Given the description of an element on the screen output the (x, y) to click on. 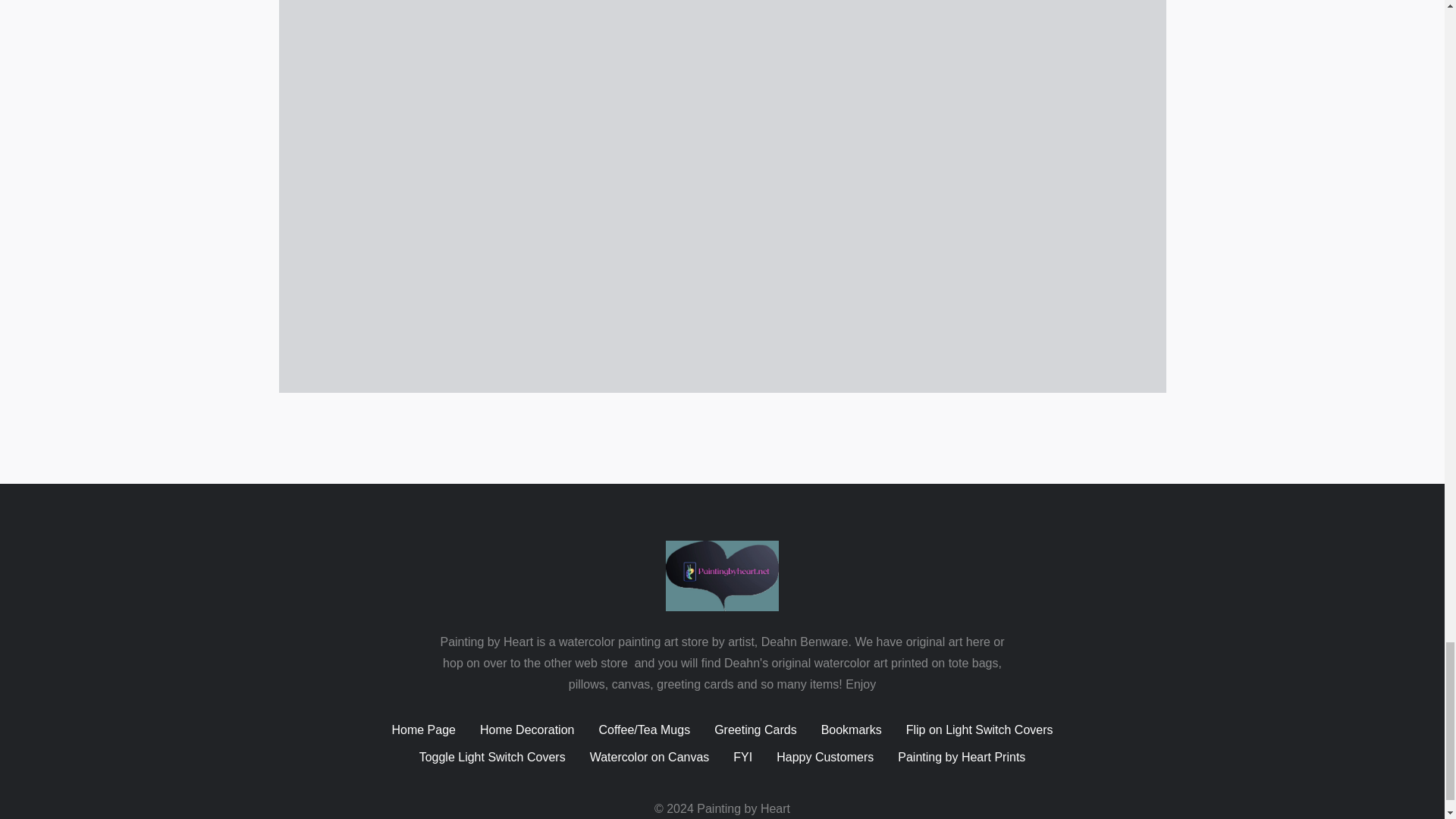
Toggle Light Switch Covers (492, 757)
Watercolor on Canvas (649, 757)
Flip on Light Switch Covers (978, 730)
Bookmarks (851, 730)
Greeting Cards (755, 730)
Home Page (423, 730)
Home Decoration (527, 730)
